Given the description of an element on the screen output the (x, y) to click on. 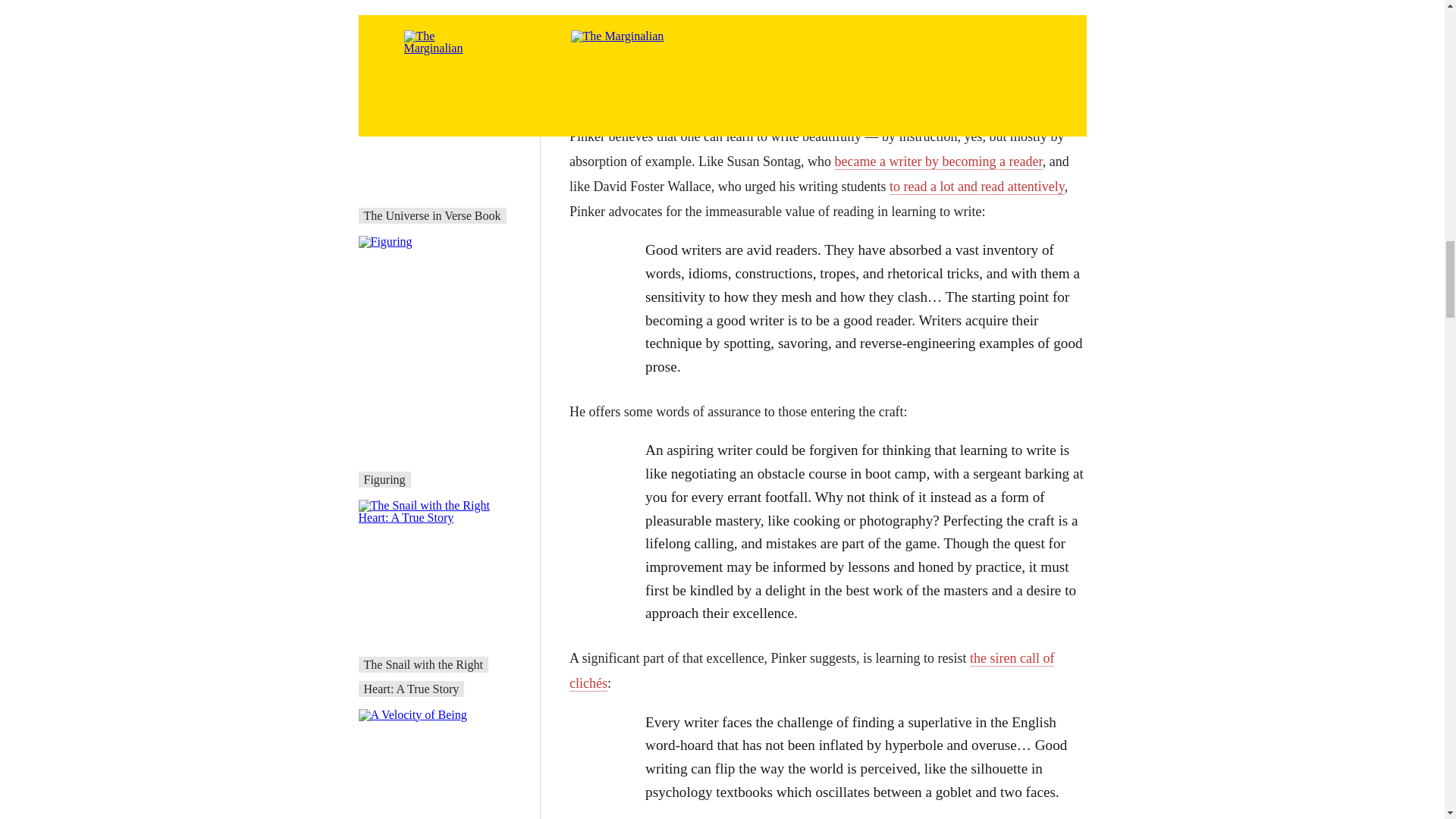
The Universe in Verse Book (432, 215)
Figuring (385, 479)
The Snail with the Right Heart: A True Story (423, 676)
